Given the description of an element on the screen output the (x, y) to click on. 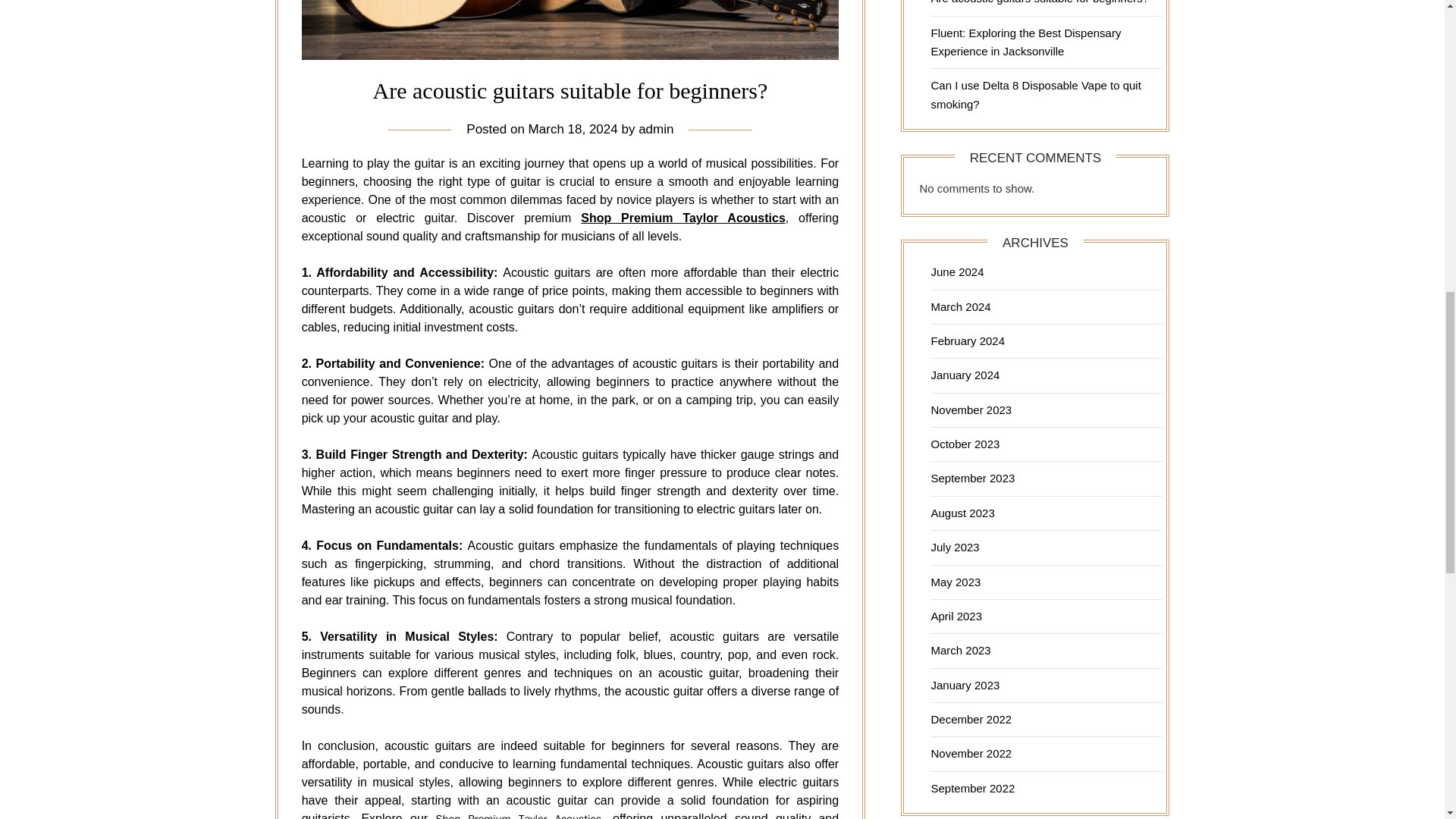
Are acoustic guitars suitable for beginners? (1039, 2)
December 2022 (970, 718)
April 2023 (955, 615)
March 2023 (960, 649)
May 2023 (954, 581)
Shop Premium Taylor Acoustics (683, 217)
August 2023 (962, 512)
November 2023 (970, 409)
September 2023 (972, 477)
July 2023 (954, 546)
November 2022 (970, 753)
Can I use Delta 8 Disposable Vape to quit smoking? (1035, 93)
January 2024 (964, 374)
June 2024 (957, 271)
March 2024 (960, 306)
